Given the description of an element on the screen output the (x, y) to click on. 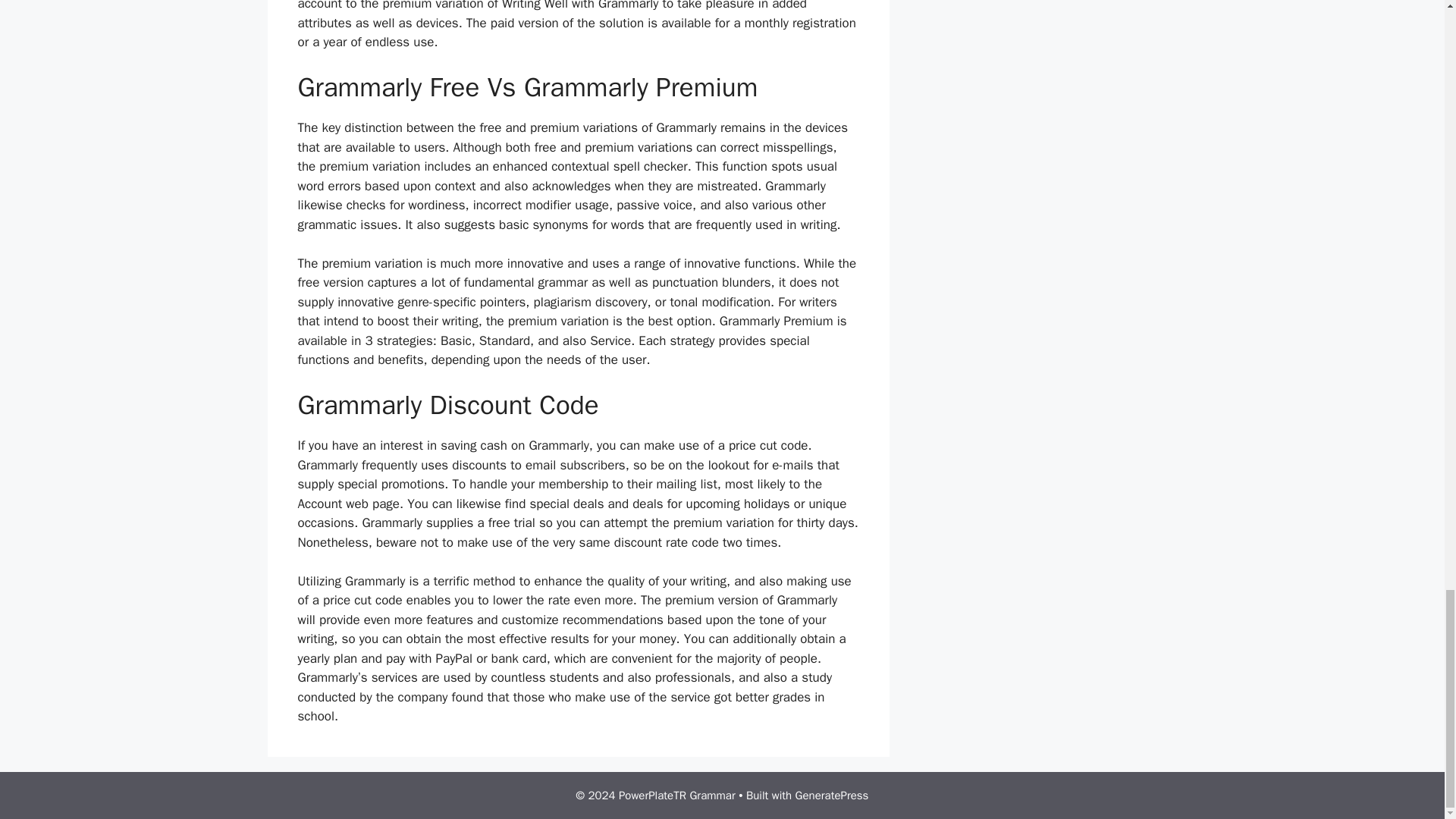
GeneratePress (831, 795)
